Given the description of an element on the screen output the (x, y) to click on. 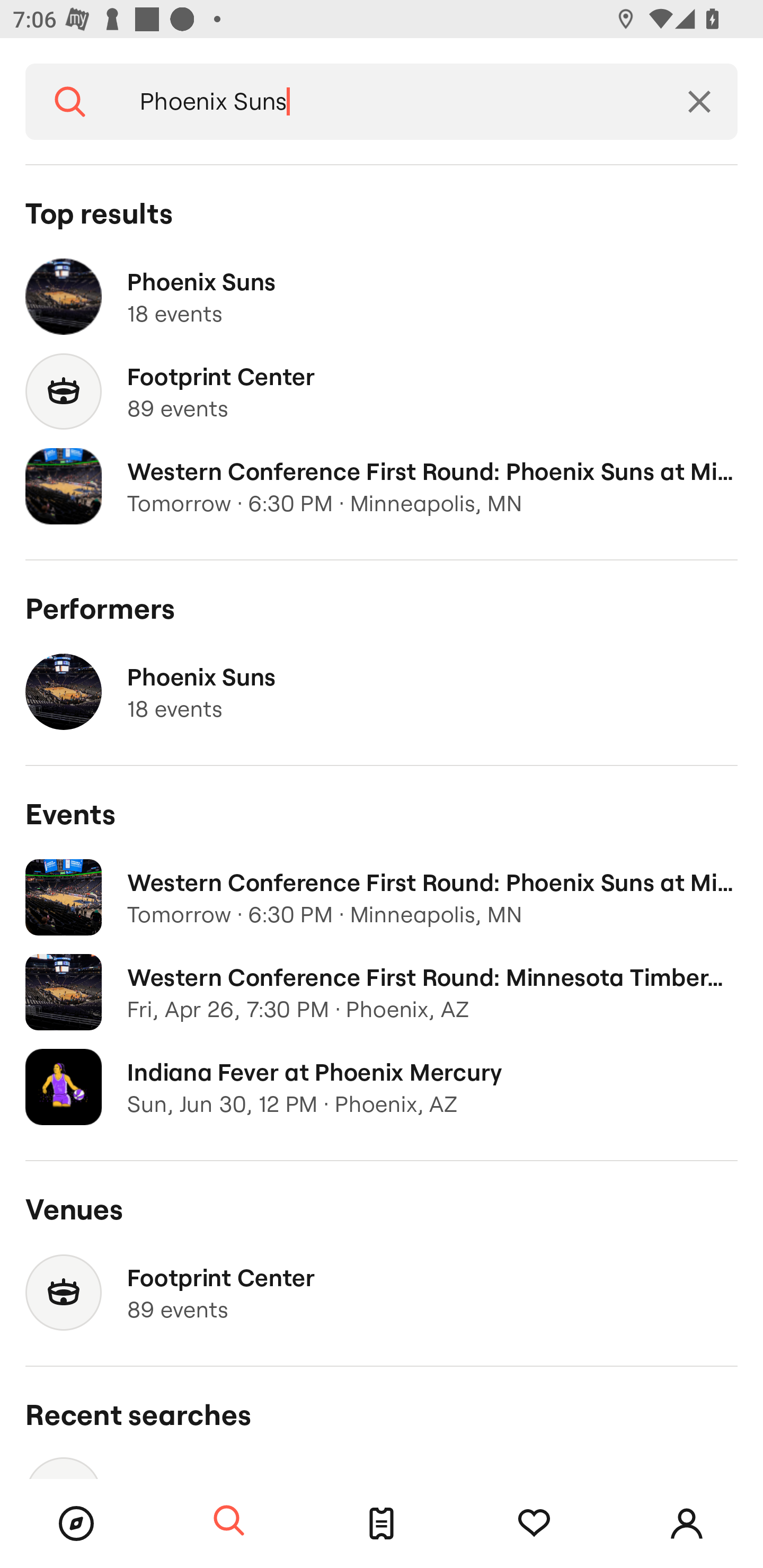
Search (69, 101)
Phoenix Suns (387, 101)
Clear (699, 101)
Phoenix Suns 18 events (381, 296)
Footprint Center 89 events (381, 391)
Phoenix Suns 18 events (381, 692)
Footprint Center 89 events (381, 1292)
Browse (76, 1523)
Search (228, 1521)
Tickets (381, 1523)
Tracking (533, 1523)
Account (686, 1523)
